Given the description of an element on the screen output the (x, y) to click on. 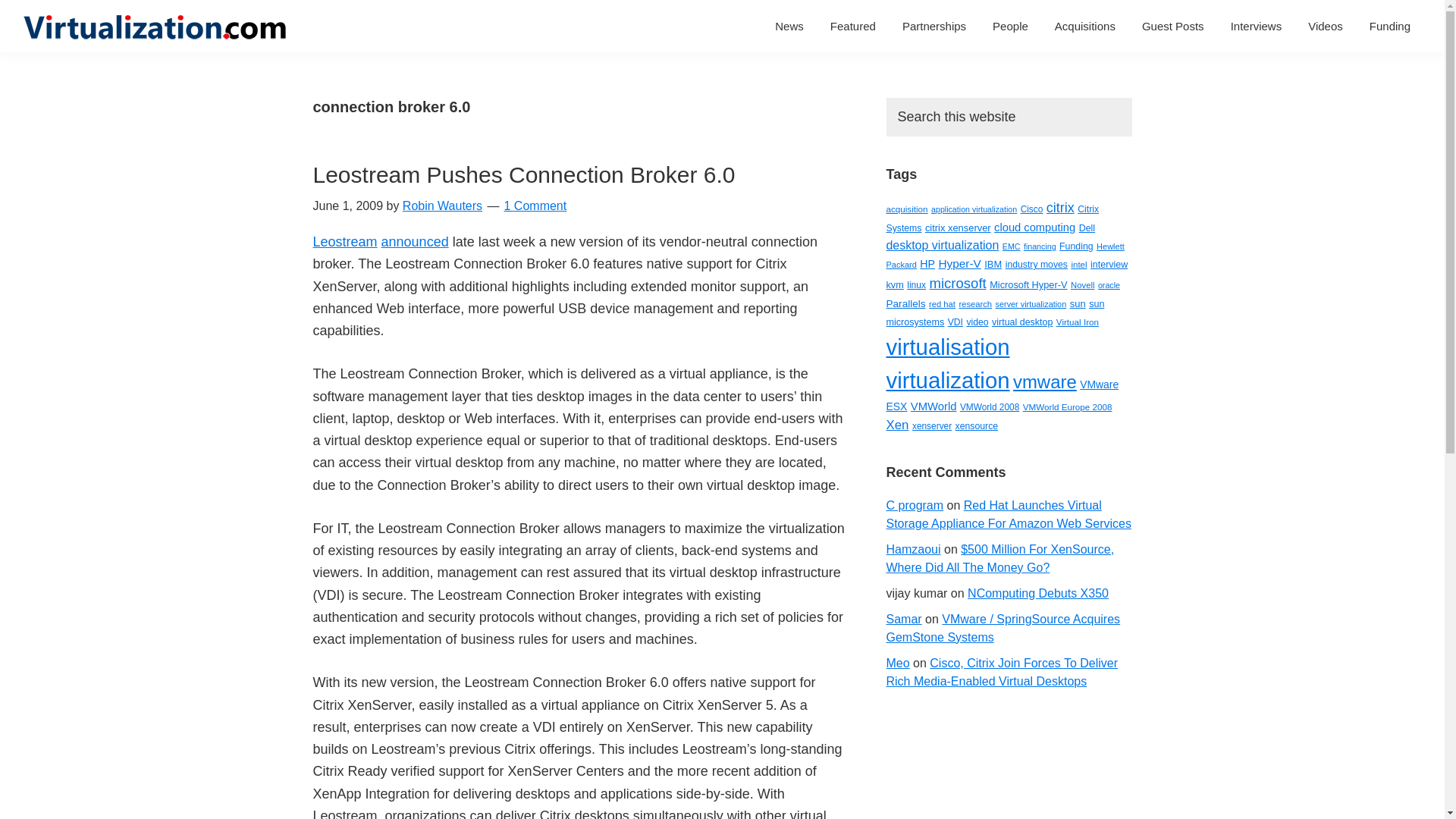
Partnerships (933, 25)
News (788, 25)
1 Comment (535, 205)
Citrix Systems (992, 218)
People (1010, 25)
Videos (1325, 25)
Interviews (1257, 25)
application virtualization (973, 208)
